Given the description of an element on the screen output the (x, y) to click on. 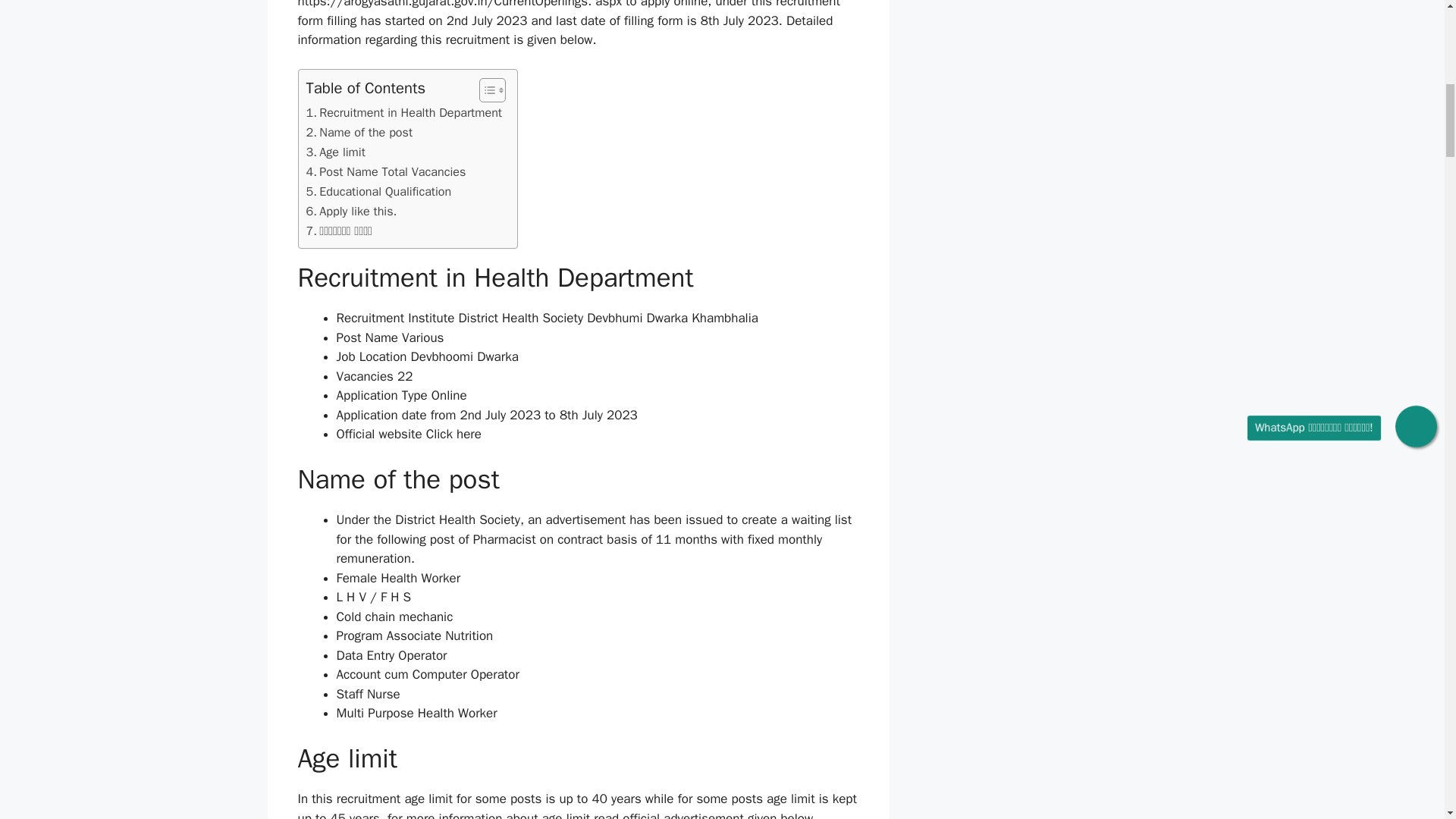
Recruitment in Health Department (403, 112)
Recruitment in Health Department (403, 112)
Name of the post (359, 132)
Age limit (335, 152)
Educational Qualification (378, 191)
Name of the post (359, 132)
Apply like this. (351, 211)
Post Name Total Vacancies (385, 171)
Educational Qualification (378, 191)
Post Name Total Vacancies (385, 171)
Apply like this. (351, 211)
Age limit (335, 152)
